Given the description of an element on the screen output the (x, y) to click on. 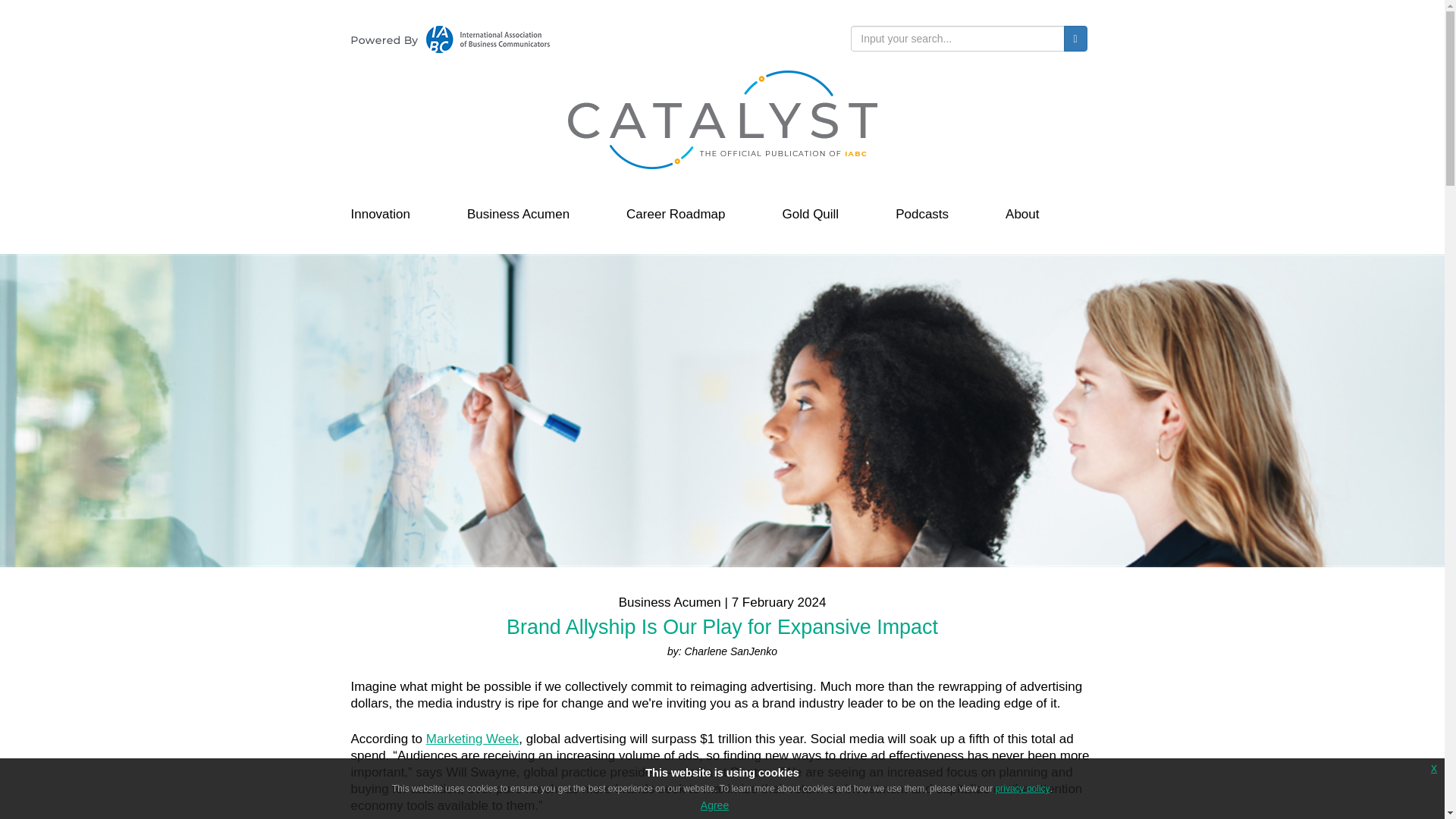
Innovation (379, 211)
Gold Quill (811, 211)
Business Acumen (518, 211)
privacy policy (1022, 787)
Podcasts (922, 211)
search input (957, 38)
Marketing Week (472, 739)
Agree (714, 805)
Career Roadmap (675, 211)
